Given the description of an element on the screen output the (x, y) to click on. 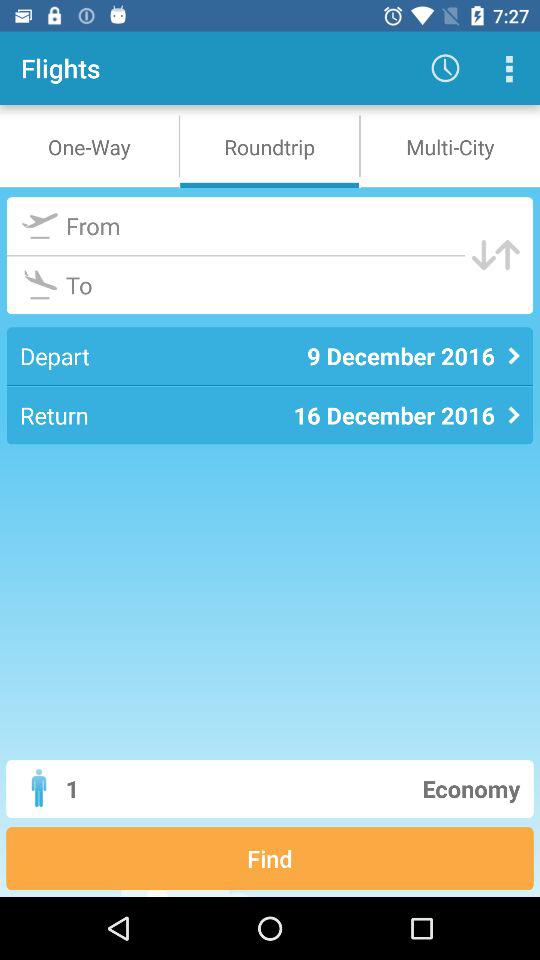
history (508, 67)
